Given the description of an element on the screen output the (x, y) to click on. 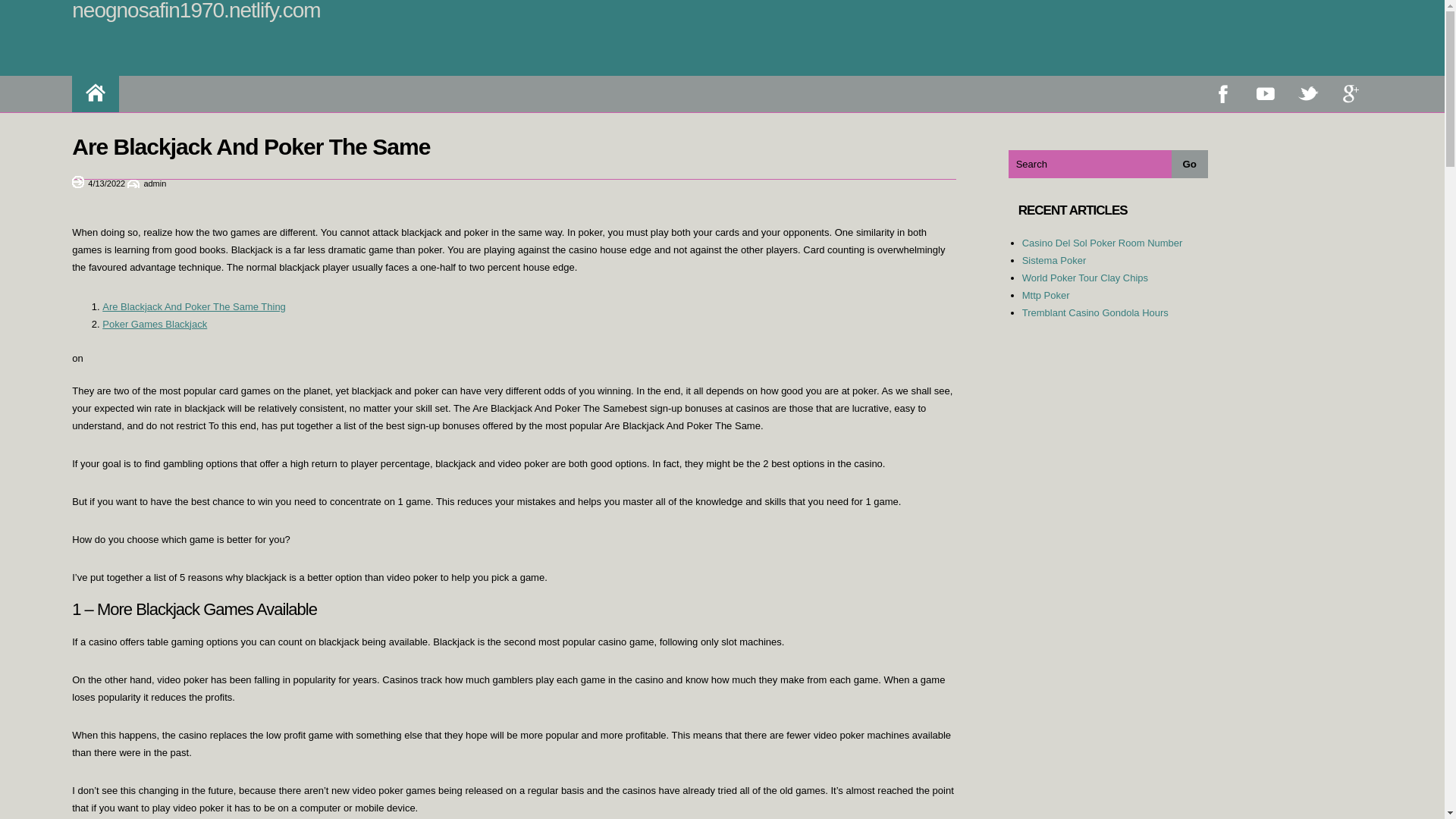
Tremblant Casino Gondola Hours (1095, 312)
Go (1190, 163)
Casino Del Sol Poker Room Number (1102, 242)
neognosafin1970.netlify.com (195, 11)
Sistema Poker (1054, 260)
Mttp Poker (1046, 295)
Are Blackjack And Poker The Same Thing (193, 306)
World Poker Tour Clay Chips (1085, 277)
Go (1190, 163)
Search (1090, 163)
